Given the description of an element on the screen output the (x, y) to click on. 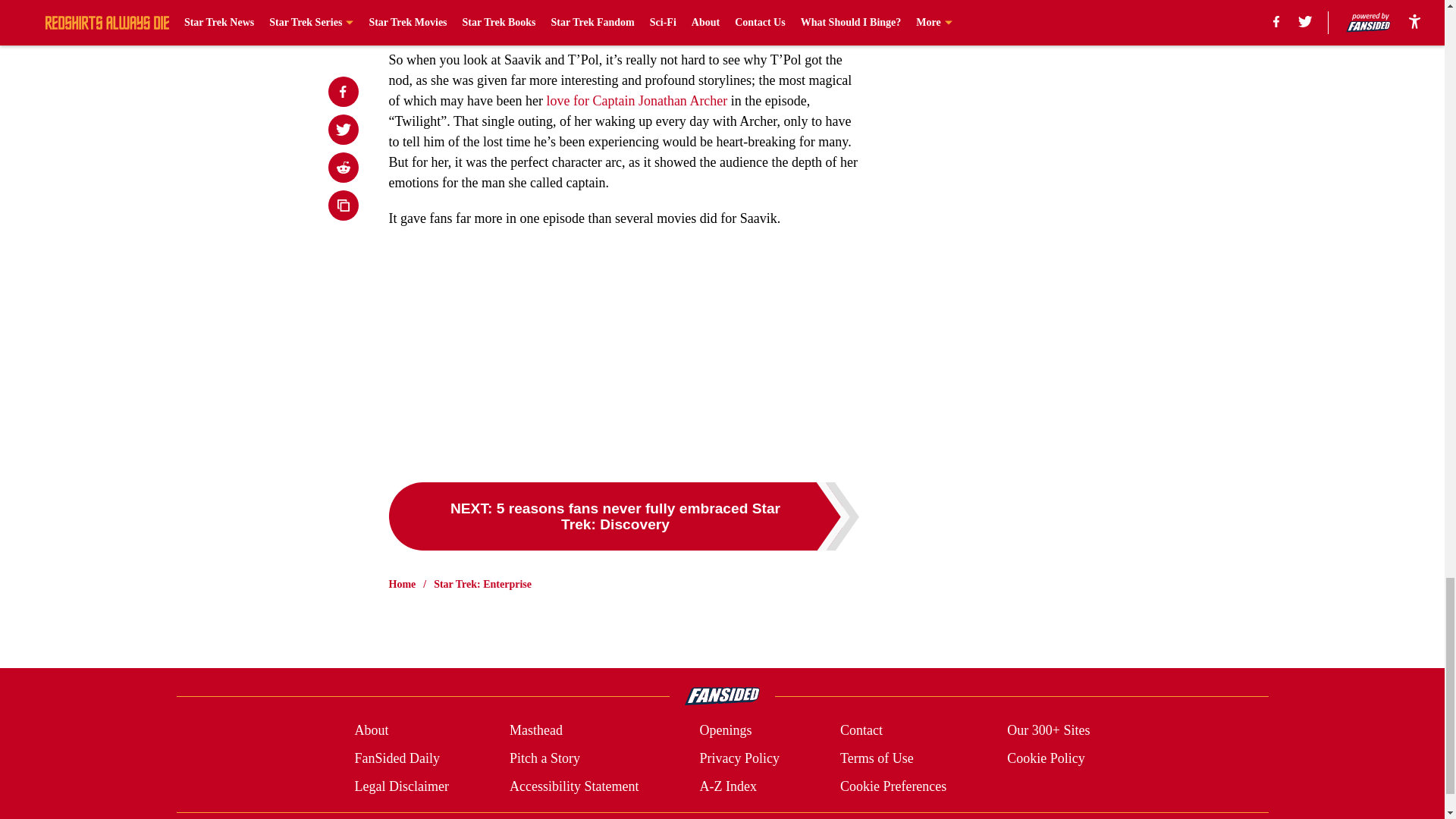
Home (401, 584)
Star Trek: Enterprise (482, 584)
love for Captain Jonathan Archer (636, 100)
